Given the description of an element on the screen output the (x, y) to click on. 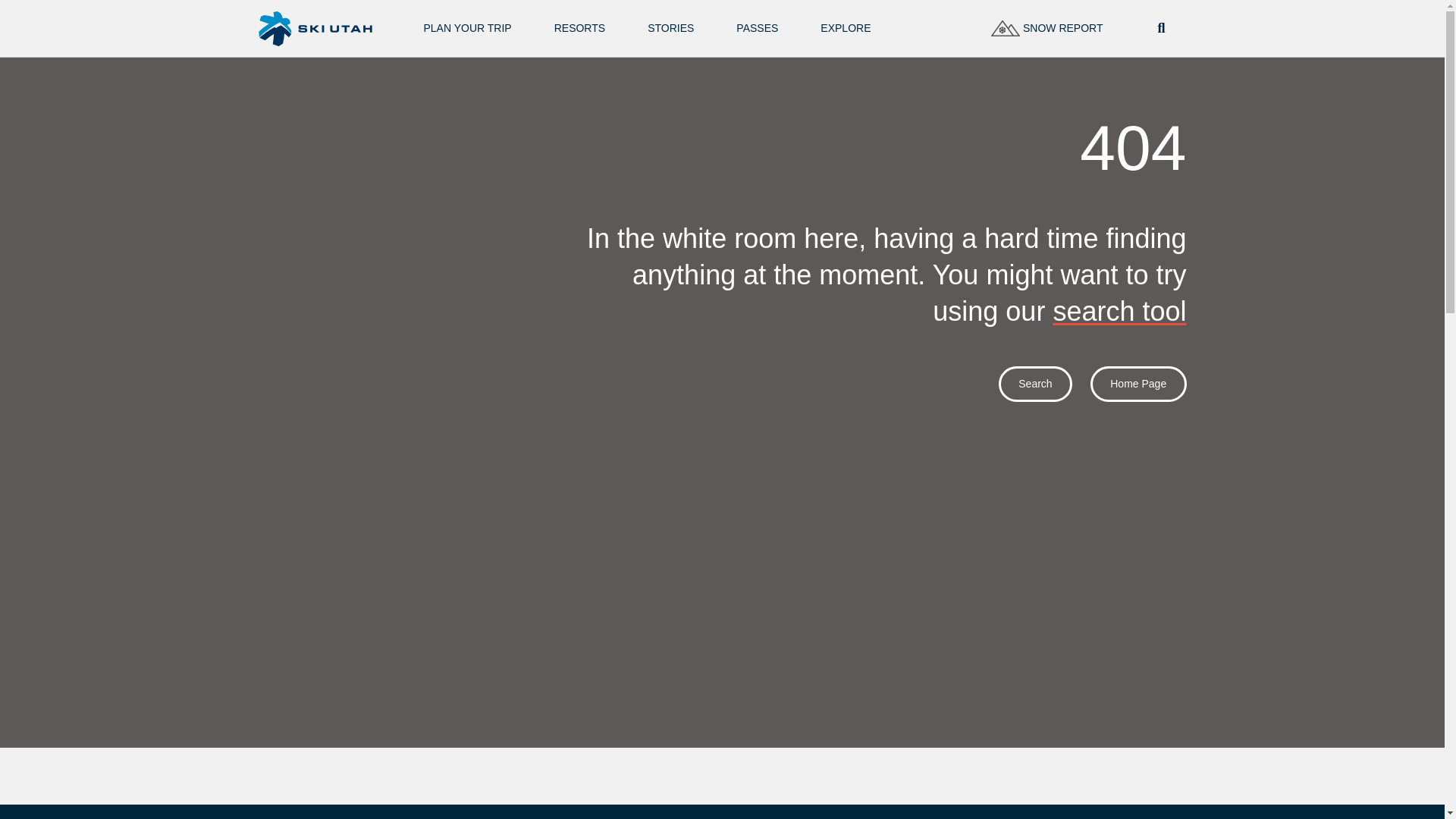
PLAN YOUR TRIP (466, 28)
